Given the description of an element on the screen output the (x, y) to click on. 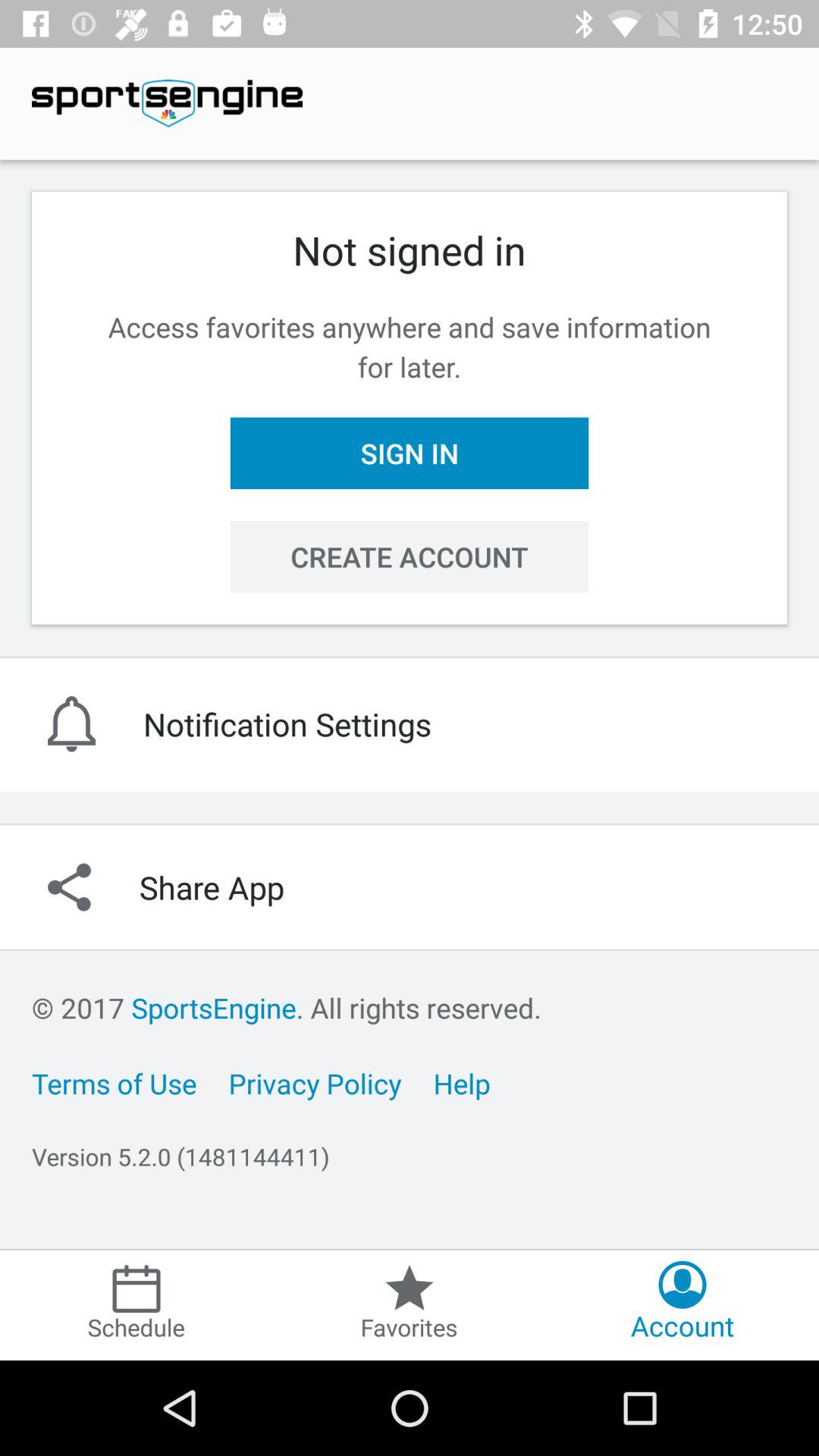
flip to 2017 sportsengine all (286, 1007)
